Given the description of an element on the screen output the (x, y) to click on. 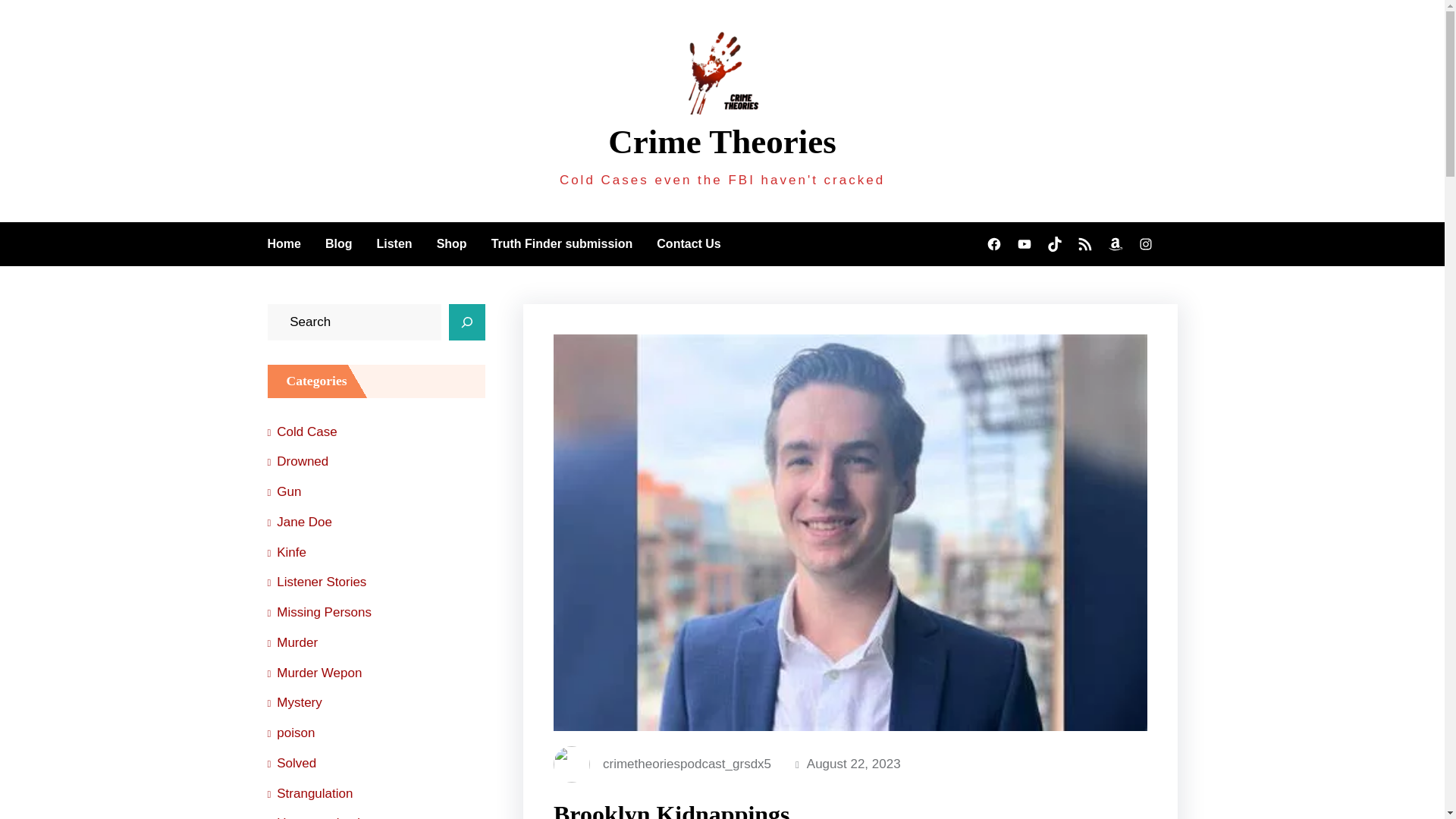
Murder (291, 643)
Drowned (297, 461)
YouTube (1023, 243)
Kinfe (285, 552)
poison (290, 733)
Cold Case (301, 431)
Missing Persons (318, 612)
Blog (338, 243)
Truth Finder submission (562, 243)
Gun (283, 491)
Contact Us (688, 243)
Listener Stories (316, 582)
Murder Wepon (313, 673)
Facebook (993, 243)
Instagram (1145, 243)
